Given the description of an element on the screen output the (x, y) to click on. 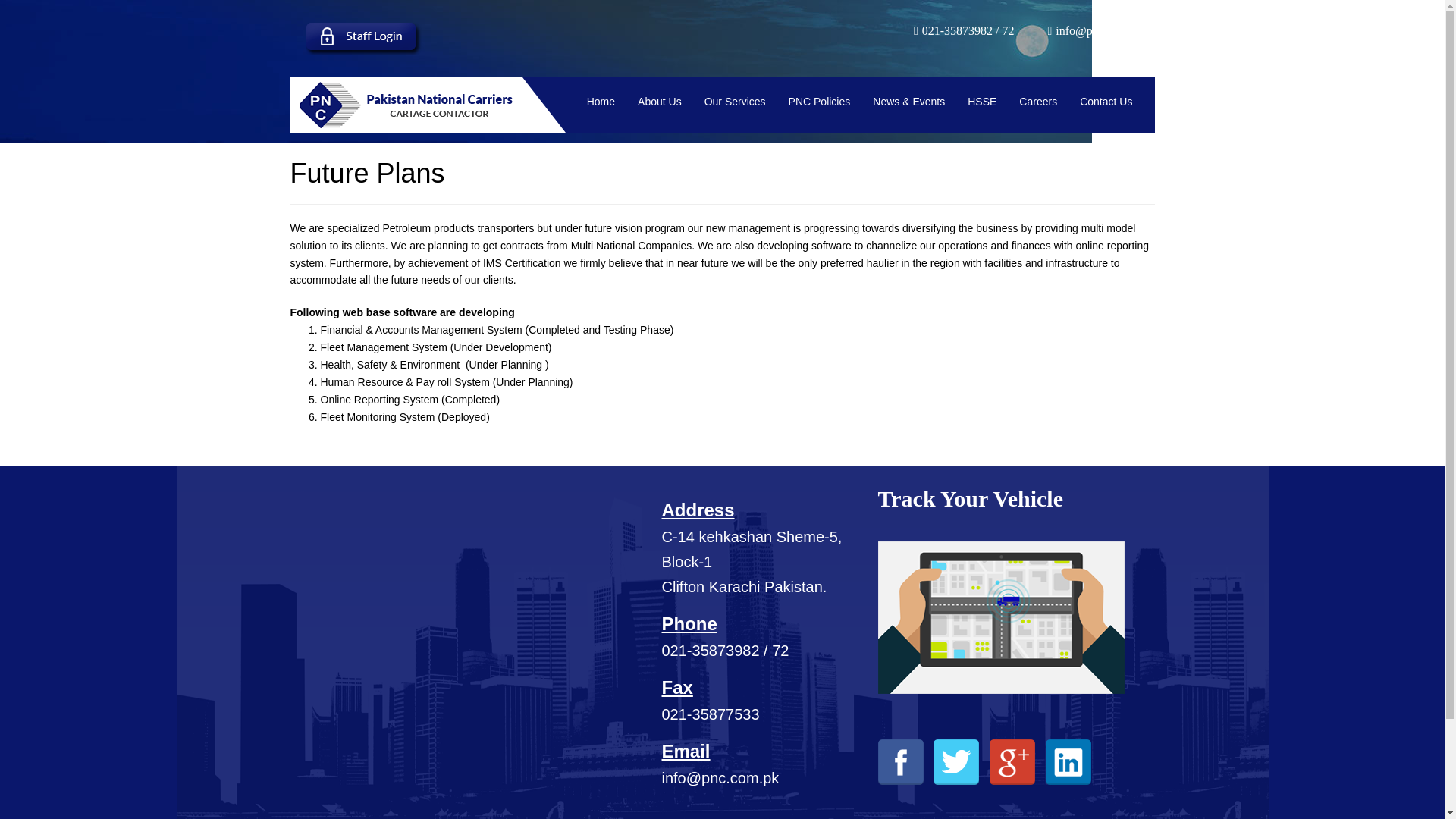
PNC Policies (819, 101)
HSSE (981, 101)
Careers (1037, 101)
Our Services (734, 101)
About Us (659, 101)
Contact Us (1105, 101)
Home (600, 101)
